Given the description of an element on the screen output the (x, y) to click on. 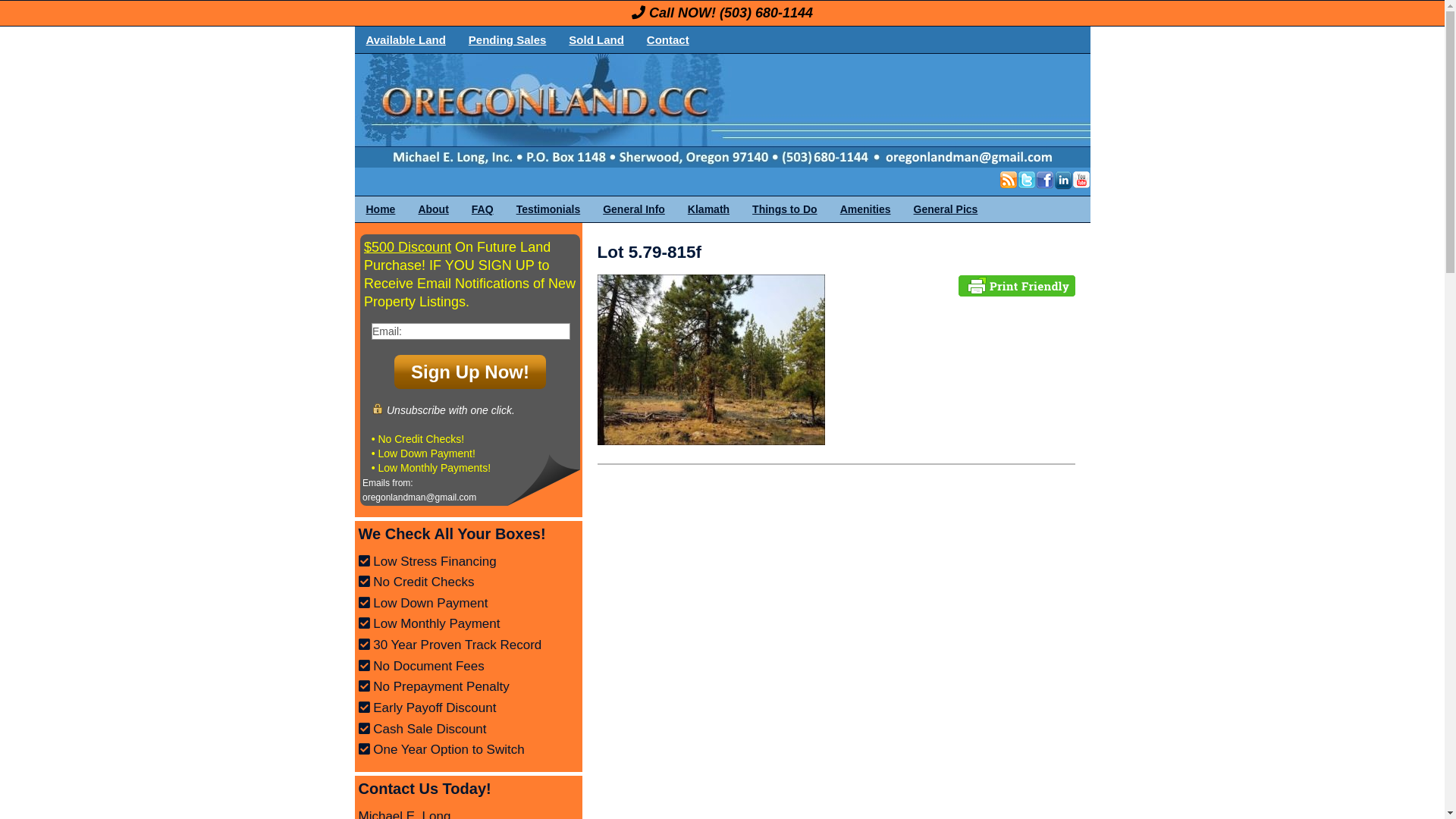
Testimonials Element type: text (548, 209)
About Element type: text (432, 209)
Sold Land Element type: text (596, 39)
General Info Element type: text (633, 209)
Sign Up Now! Element type: text (470, 371)
Things to Do Element type: text (784, 209)
Printer Friendly, PDF & Email Element type: hover (1016, 284)
Home Element type: text (380, 209)
Klamath Element type: text (708, 209)
General Pics Element type: text (945, 209)
Available Land Element type: text (405, 39)
Unsubscribe with one click. Element type: text (442, 408)
OregonLand.com Element type: text (786, 110)
Amenities Element type: text (865, 209)
(503) 680-1144 Element type: text (765, 12)
Contact Element type: text (667, 39)
Pending Sales Element type: text (507, 39)
FAQ Element type: text (482, 209)
